Given the description of an element on the screen output the (x, y) to click on. 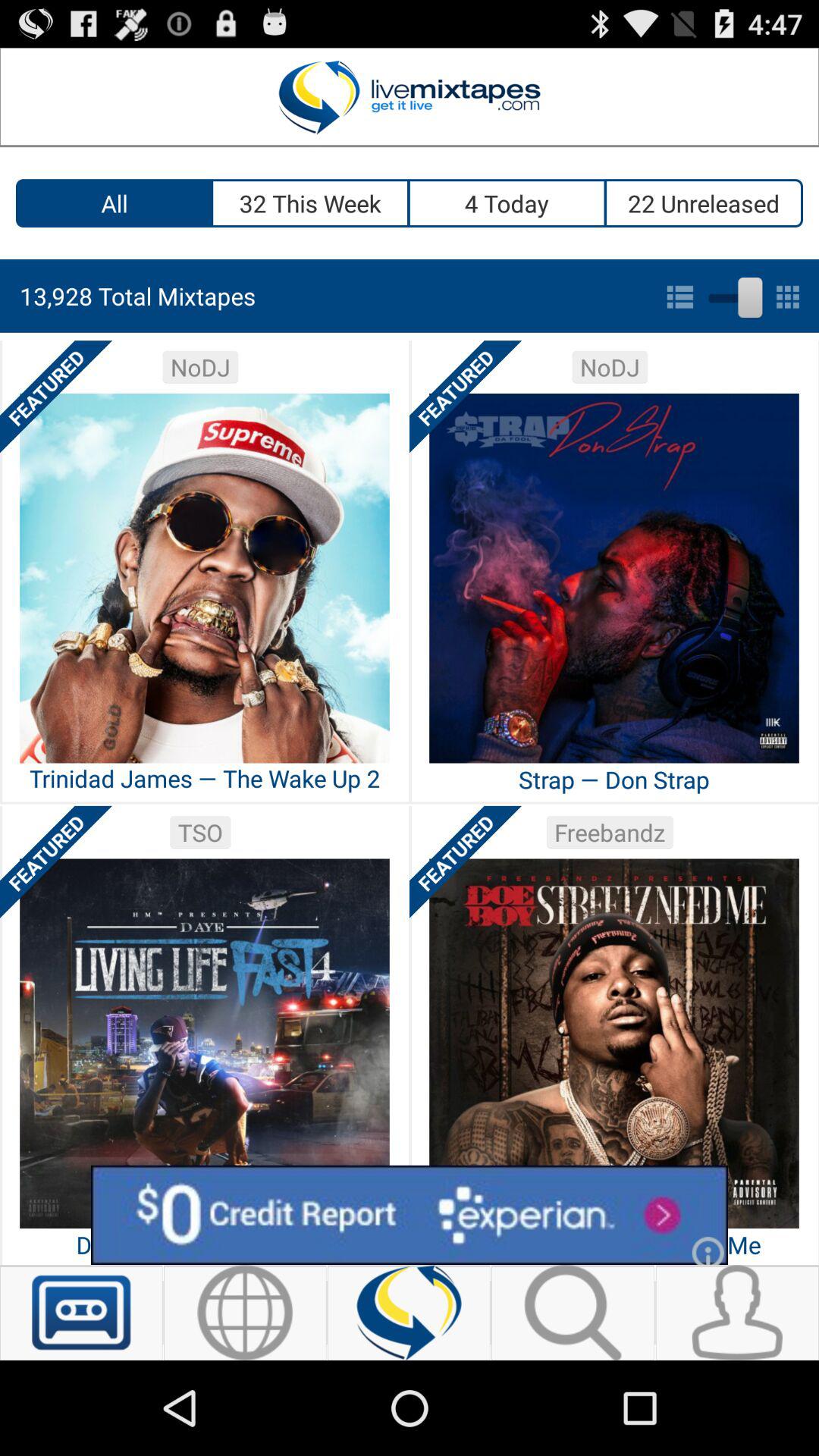
refresh mixtape selection (408, 1312)
